Given the description of an element on the screen output the (x, y) to click on. 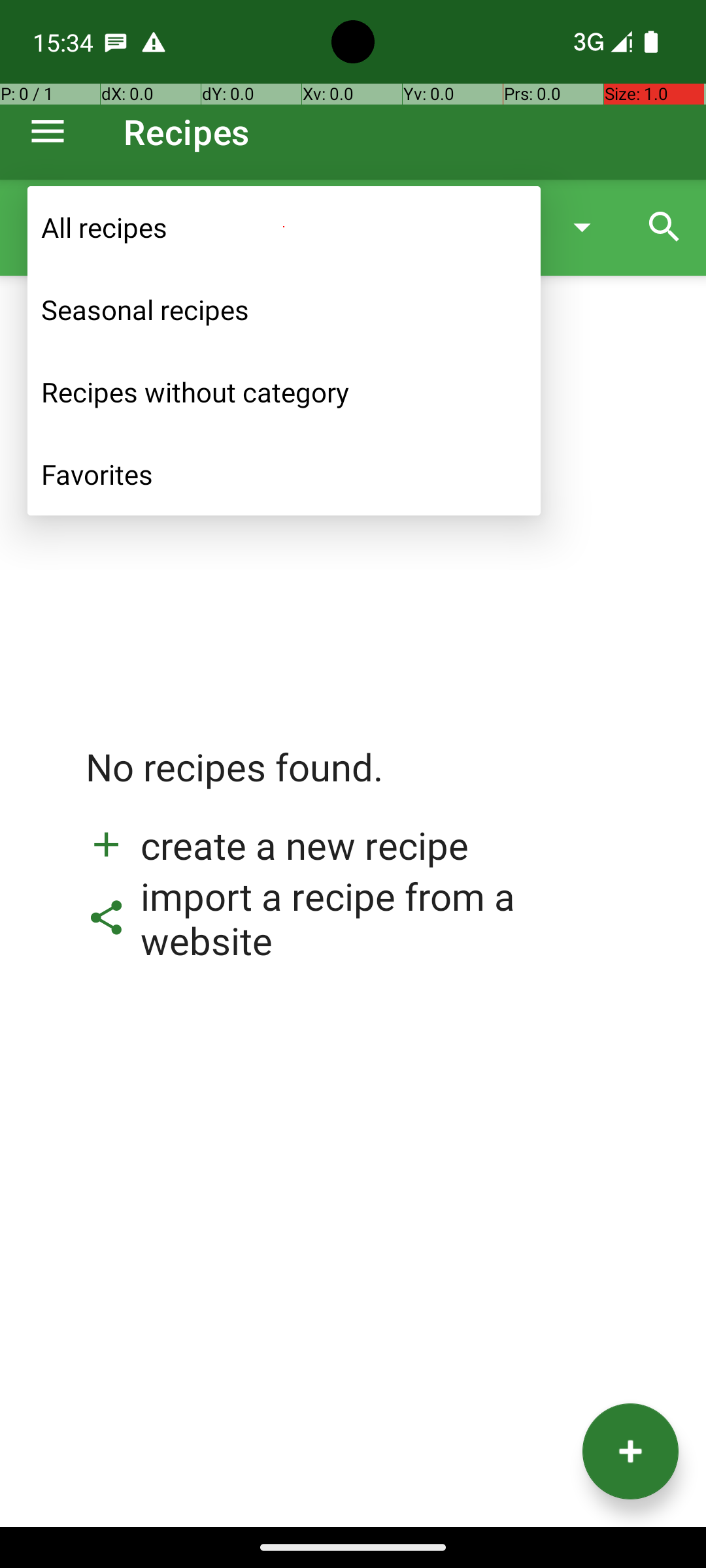
Seasonal recipes Element type: android.widget.CheckedTextView (283, 309)
Recipes without category Element type: android.widget.CheckedTextView (283, 391)
